Given the description of an element on the screen output the (x, y) to click on. 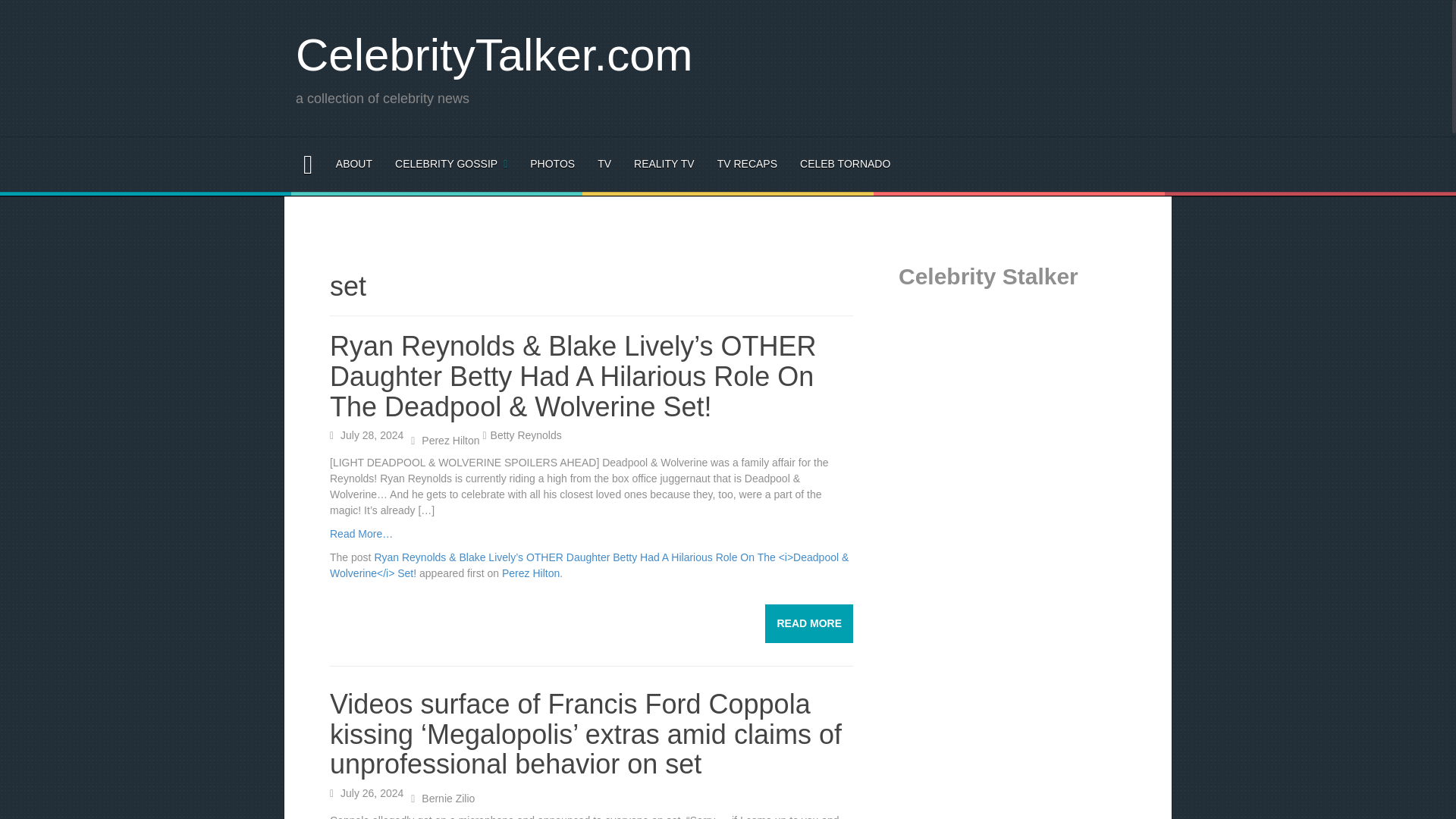
Perez Hilton (450, 440)
READ MORE (809, 623)
July 28, 2024 (371, 435)
CELEBRITY GOSSIP (450, 163)
ABOUT (354, 163)
Betty Reynolds (526, 435)
CELEB TORNADO (844, 163)
Perez Hilton (530, 573)
TV RECAPS (747, 163)
July 26, 2024 (371, 793)
Bernie Zilio (448, 798)
PHOTOS (552, 163)
REALITY TV (663, 163)
CelebrityTalker.com (494, 54)
